Given the description of an element on the screen output the (x, y) to click on. 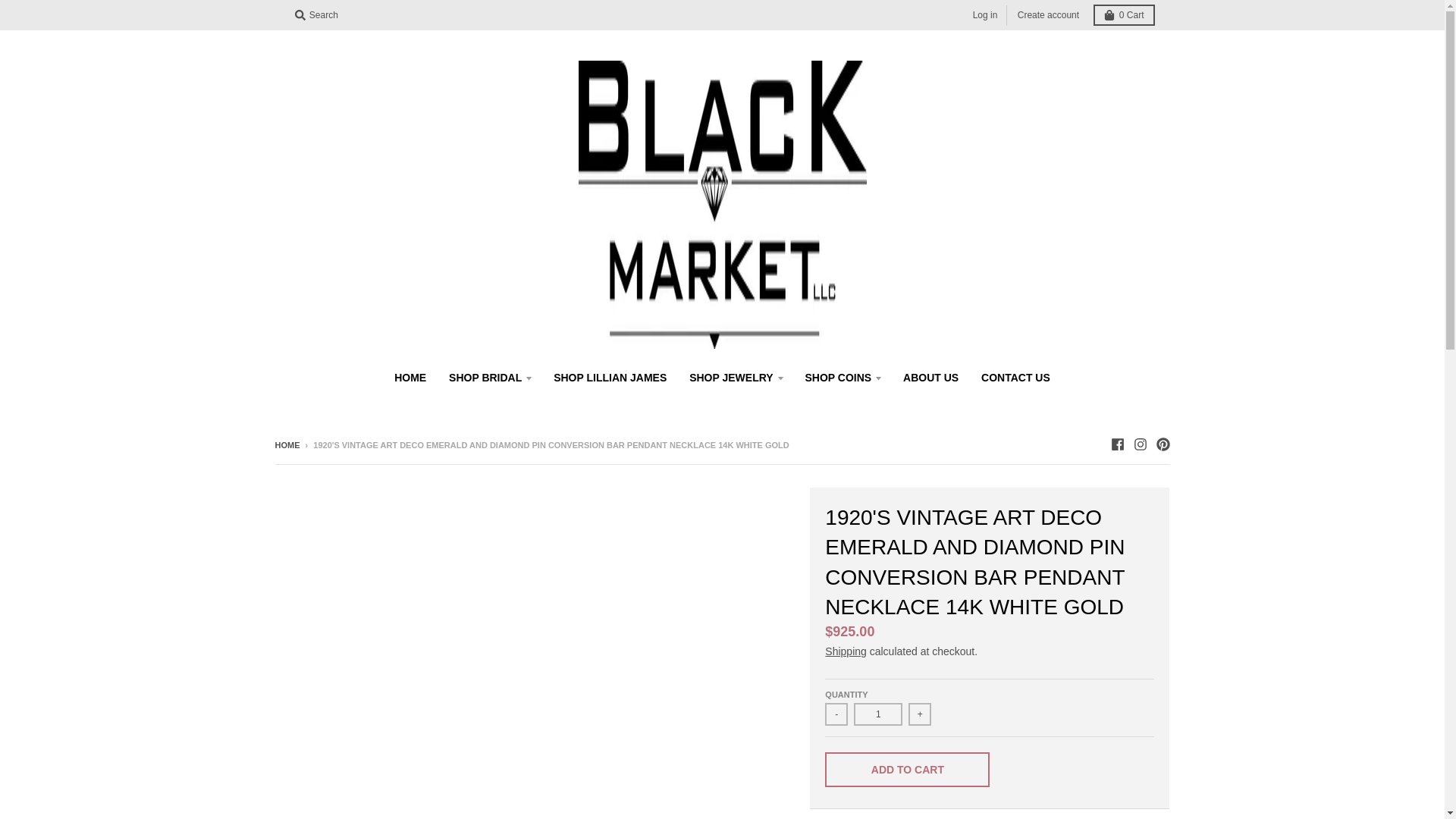
HOME (409, 377)
Search (315, 14)
0 Cart (1123, 14)
Log in (985, 14)
1 (877, 713)
SHOP JEWELRY (735, 377)
Facebook - Black Market LLC (1116, 444)
SHOP LILLIAN JAMES (610, 377)
Instagram - Black Market LLC (1139, 444)
SHOP COINS (842, 377)
SHOP BRIDAL (489, 377)
Pinterest - Black Market LLC (1162, 444)
Back to the frontpage (287, 444)
Create account (1048, 14)
